Given the description of an element on the screen output the (x, y) to click on. 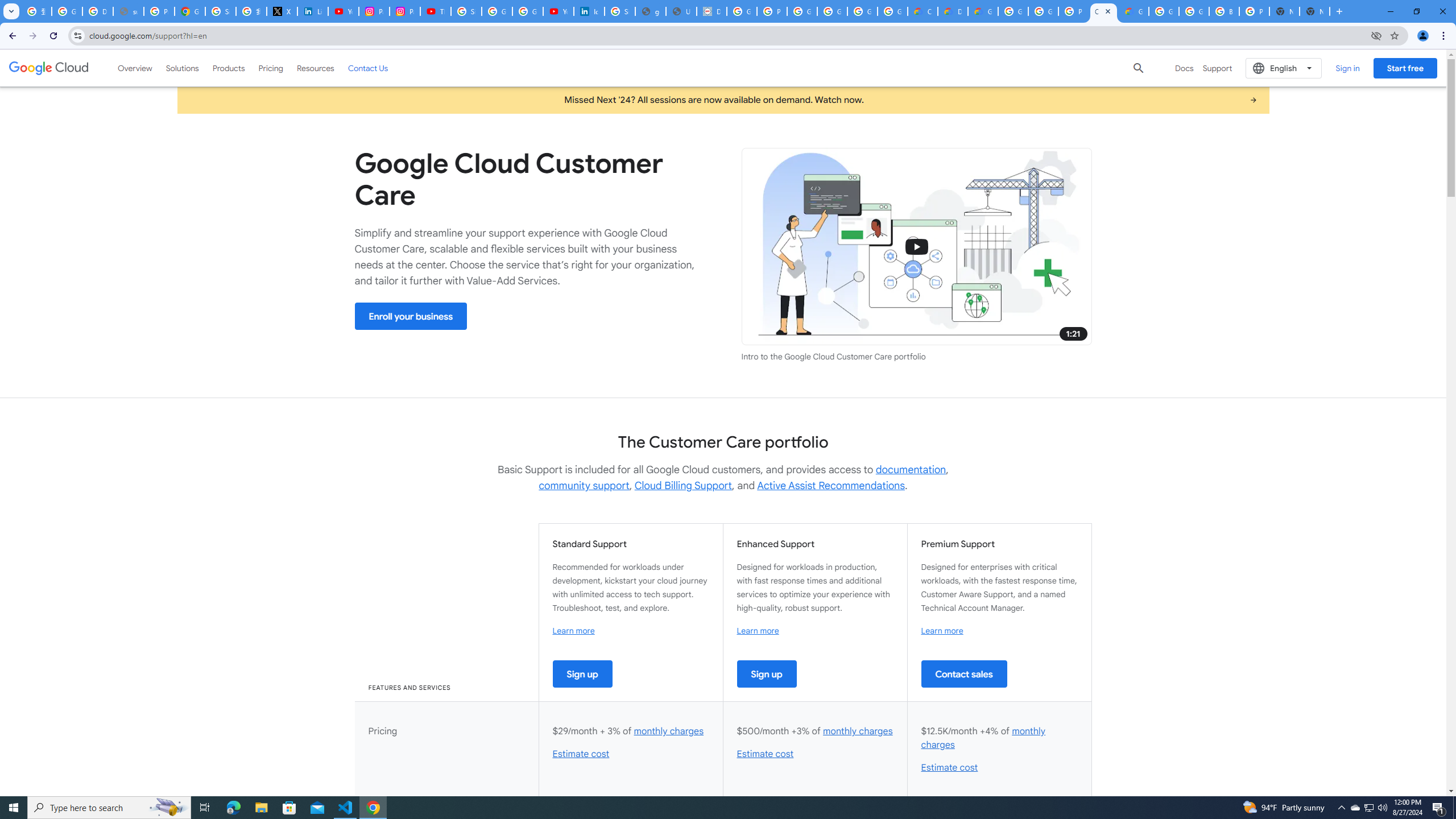
Products (228, 67)
Google Cloud (48, 67)
Contact sales (963, 673)
support.google.com - Network error (127, 11)
Docs (1183, 67)
YouTube Content Monetization Policies - How YouTube Works (343, 11)
Learn more (941, 630)
